Given the description of an element on the screen output the (x, y) to click on. 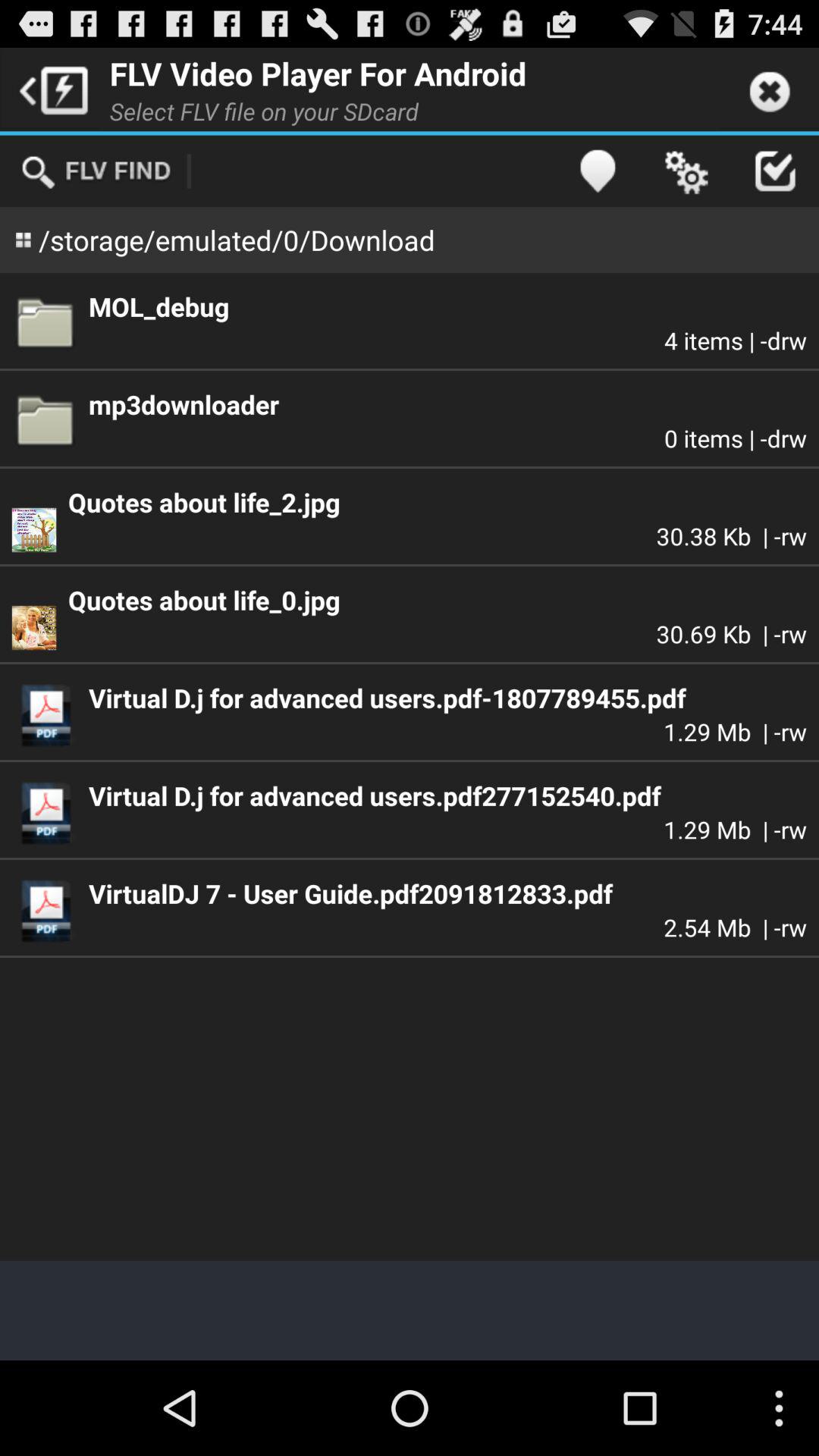
turn off app next to the flv video player item (49, 89)
